Given the description of an element on the screen output the (x, y) to click on. 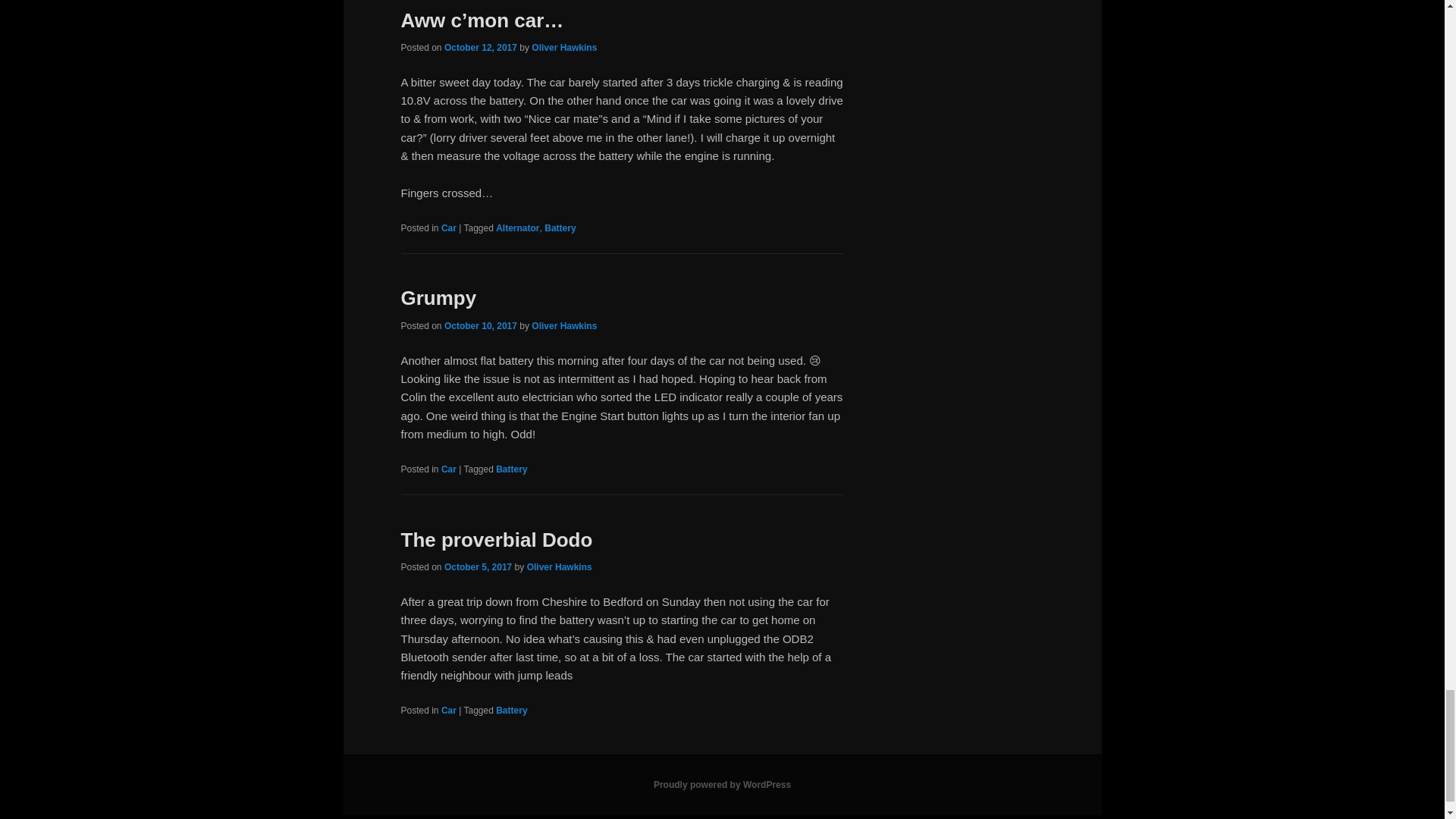
Semantic Personal Publishing Platform (721, 784)
